Given the description of an element on the screen output the (x, y) to click on. 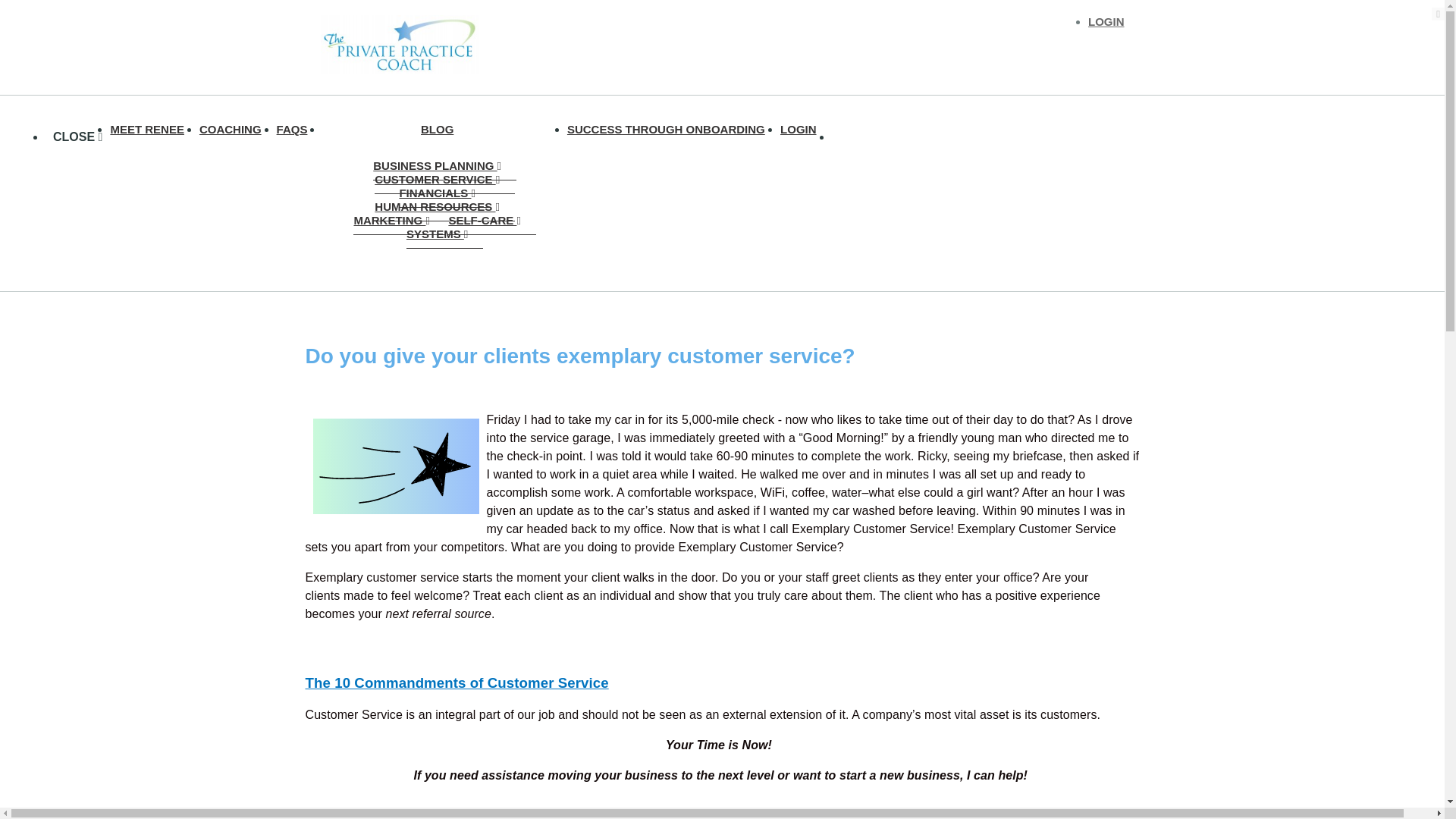
SYSTEMS (444, 234)
BUSINESS PLANNING (444, 165)
The Private Practice Coach (398, 47)
BLOG (444, 128)
The 10 Commandments of Customer Service (456, 682)
SUCCESS THROUGH ONBOARDING (673, 128)
MARKETING (398, 220)
CUSTOMER SERVICE (444, 179)
FAQS (299, 128)
LOGIN (805, 128)
CLOSE (76, 136)
SELF-CARE (491, 220)
MEET RENEE (154, 128)
FINANCIALS (443, 193)
LOGIN (1105, 21)
